Given the description of an element on the screen output the (x, y) to click on. 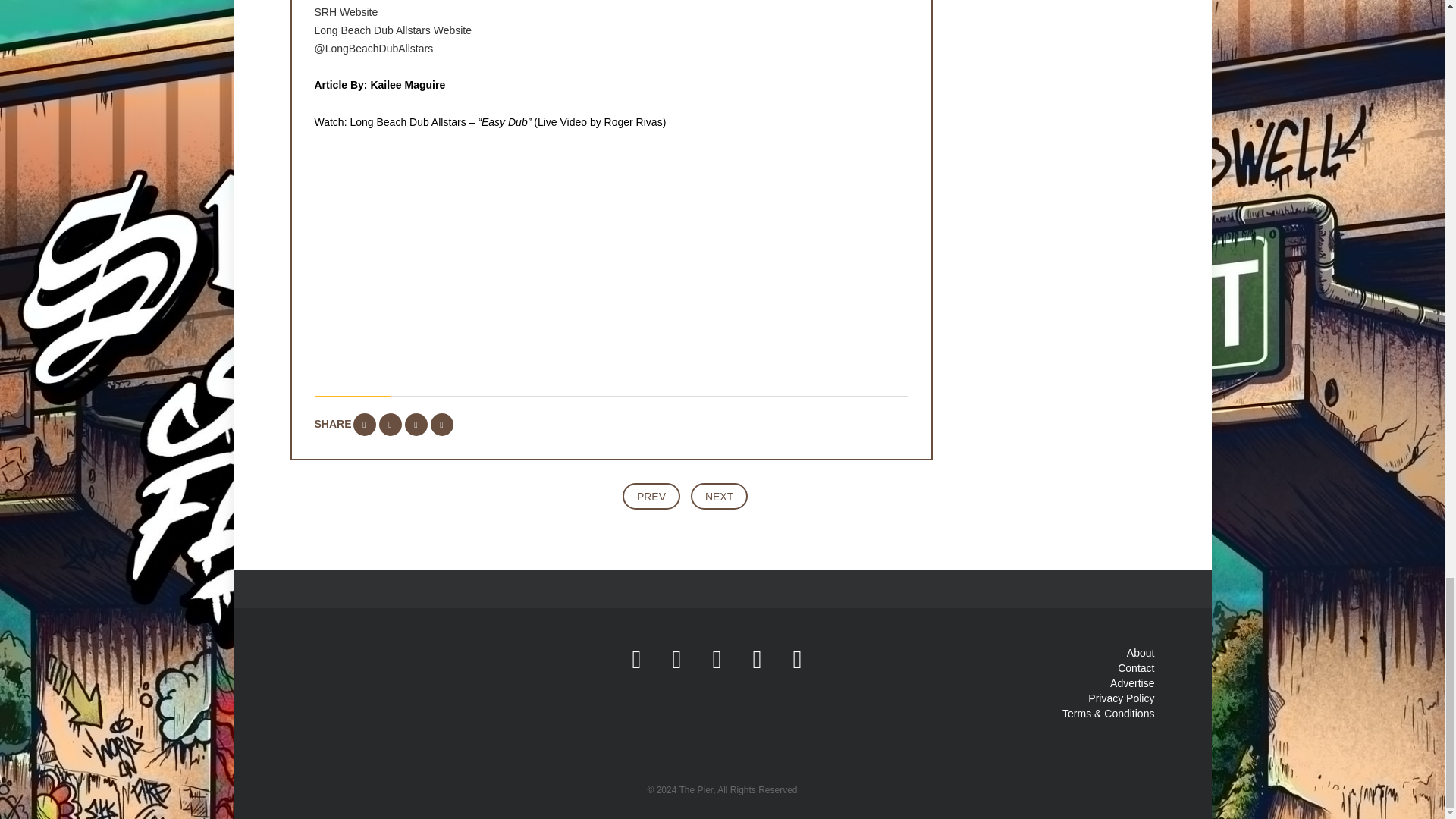
SRH Website (345, 11)
Long Beach Dub Allstars Website (392, 30)
PREV (651, 496)
Default Label (796, 658)
About (1140, 653)
Contact (1136, 667)
instagram (676, 658)
spotify (796, 658)
facebook (636, 658)
NEXT (719, 496)
